Given the description of an element on the screen output the (x, y) to click on. 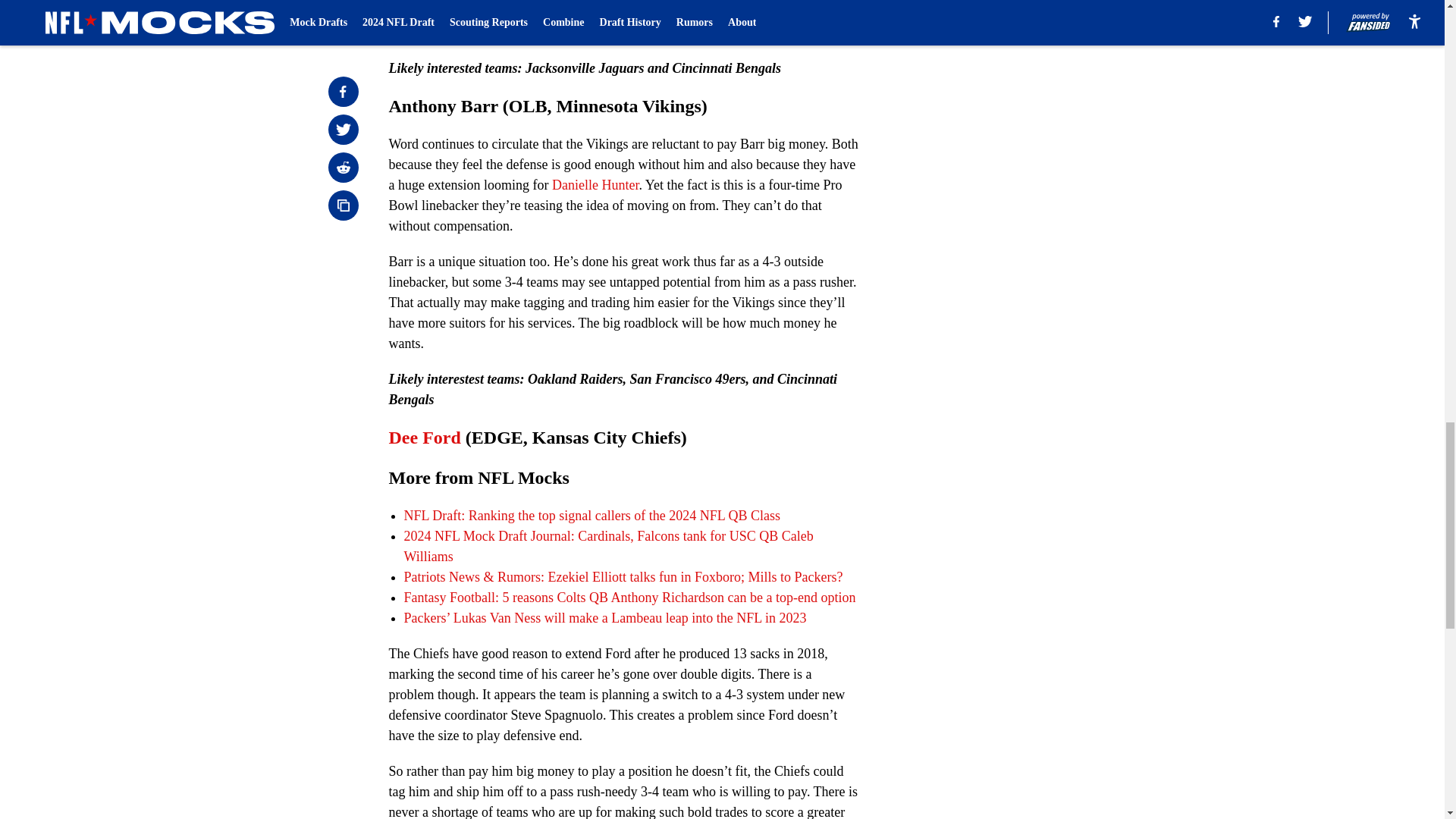
Danielle Hunter (595, 184)
Dee Ford (424, 437)
